Given the description of an element on the screen output the (x, y) to click on. 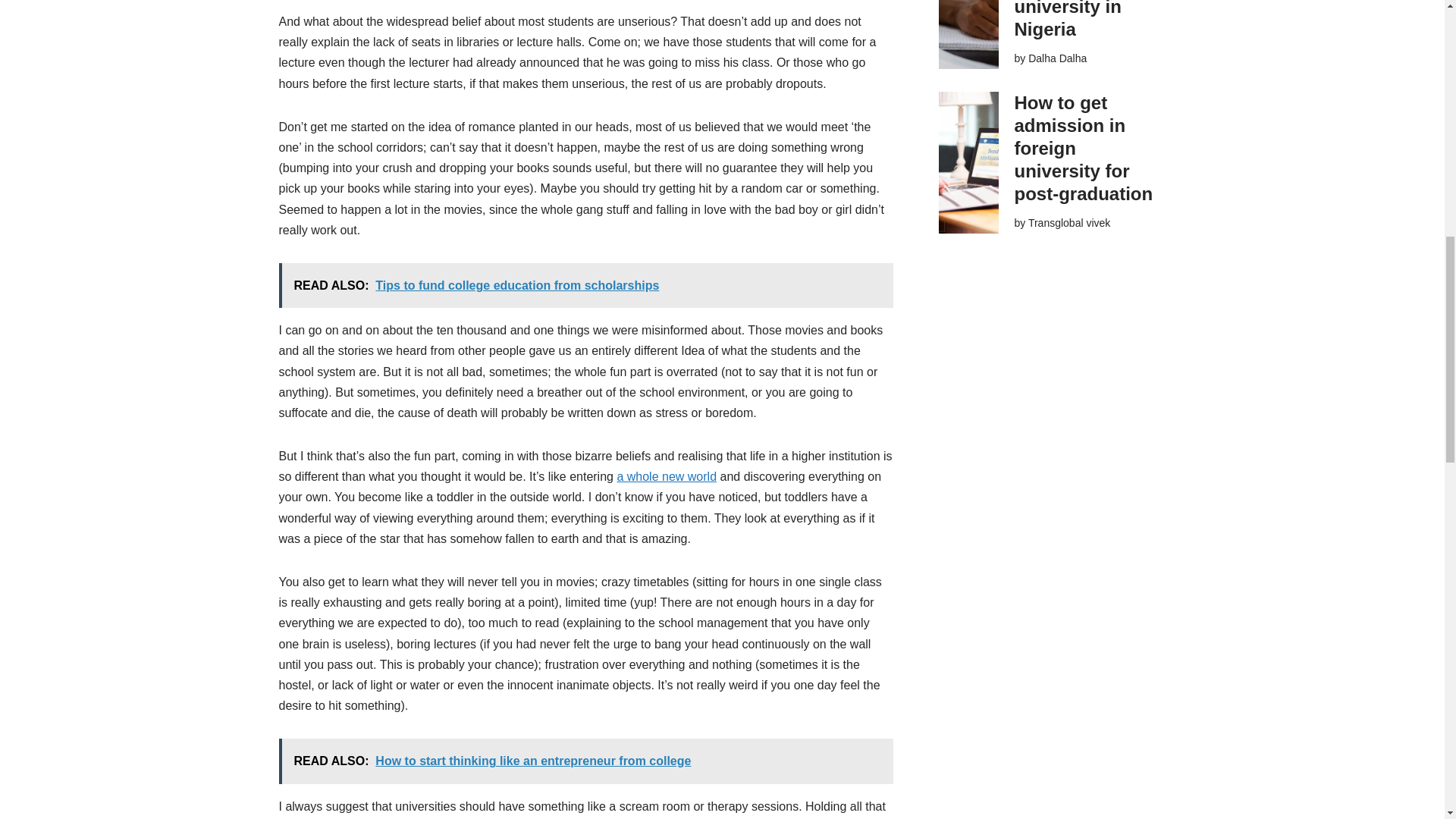
READ ALSO:  Tips to fund college education from scholarships (586, 284)
a whole new world (665, 476)
